Given the description of an element on the screen output the (x, y) to click on. 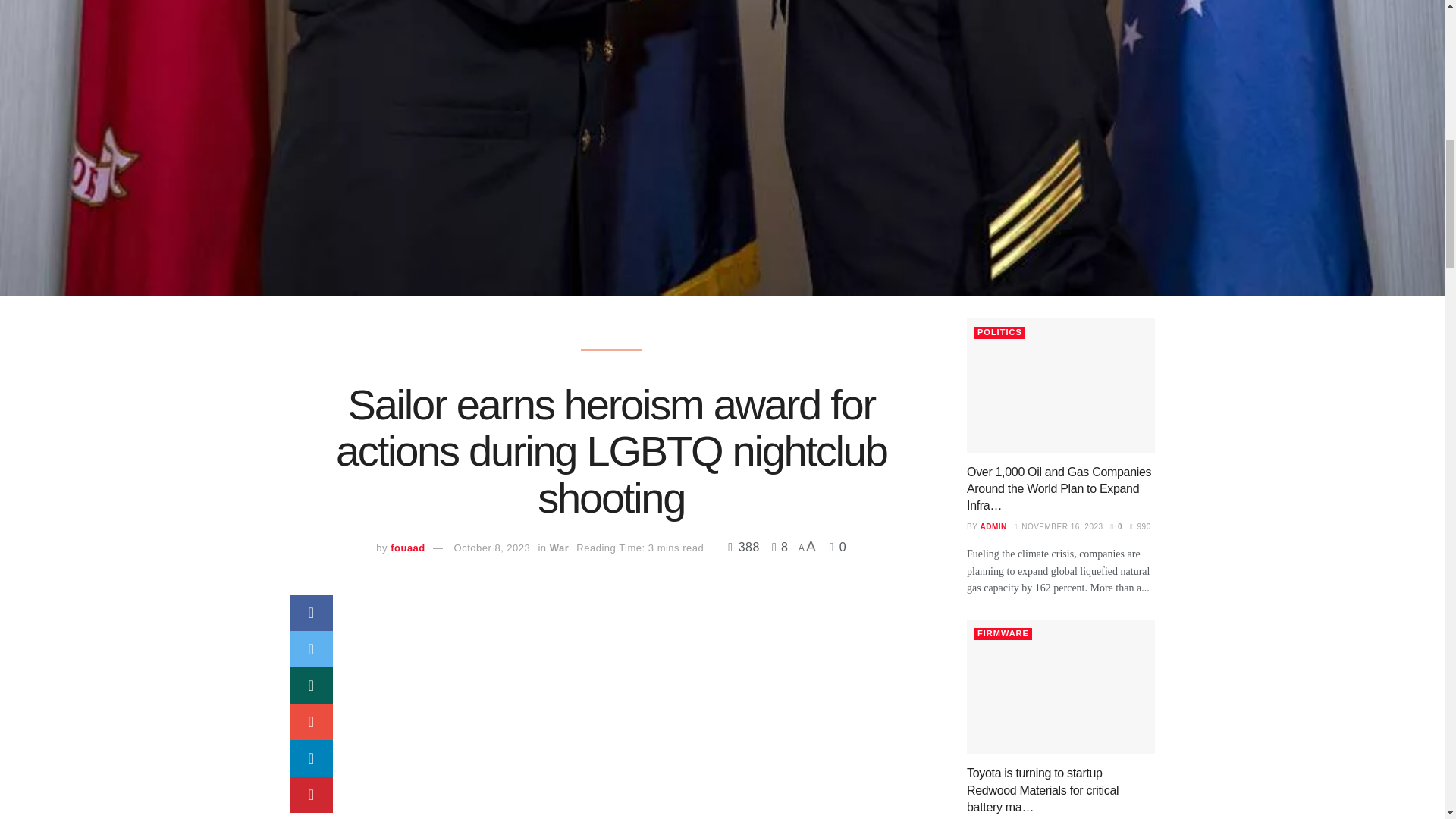
388 (745, 546)
War (559, 547)
October 8, 2023 (492, 547)
fouaad (407, 547)
8 (775, 546)
0 (838, 546)
